Given the description of an element on the screen output the (x, y) to click on. 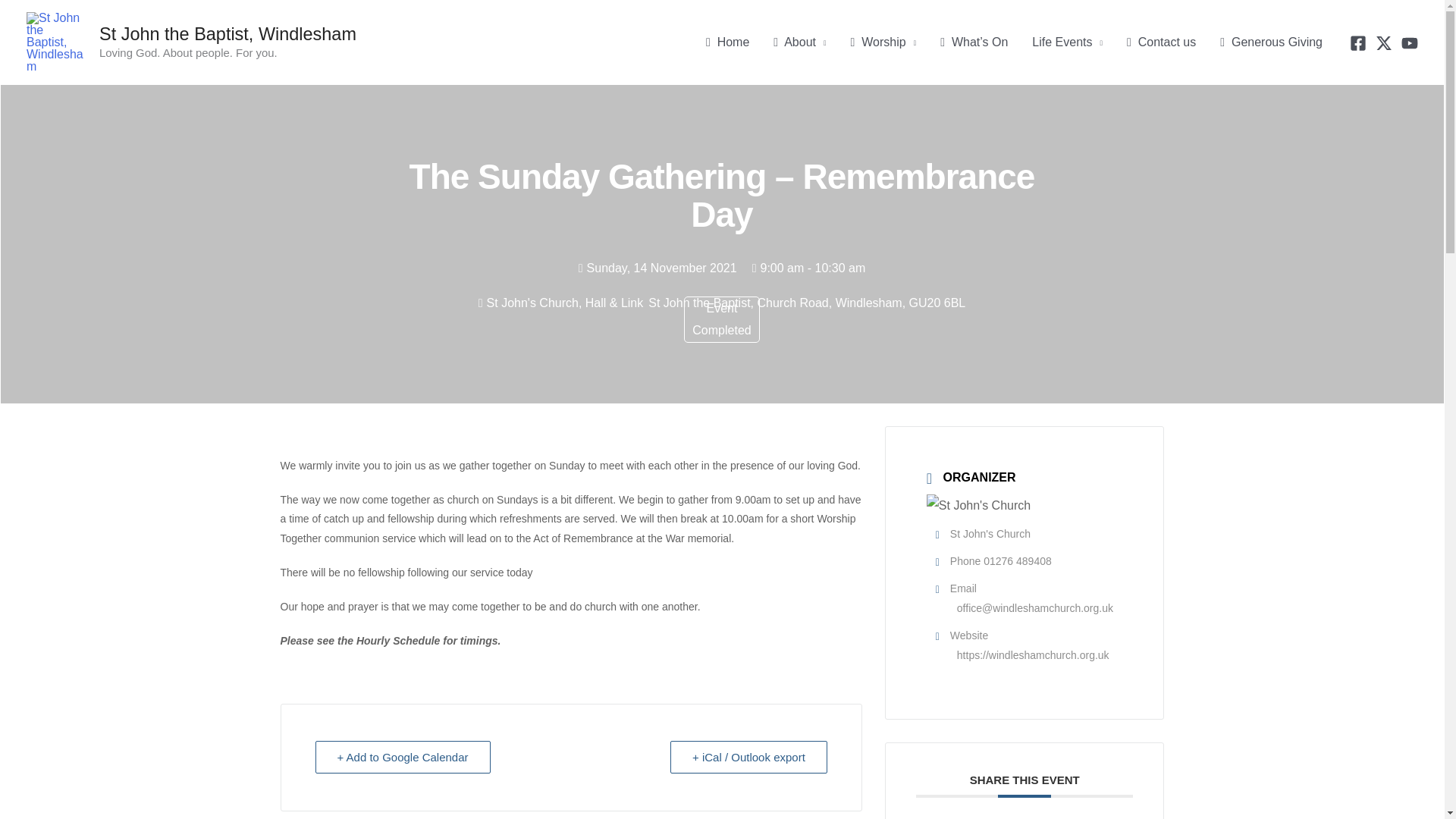
Life Events (1067, 42)
  Worship (883, 42)
St John the Baptist, Windlesham (227, 34)
  Generous Giving (1271, 42)
  About (799, 42)
  Home (727, 42)
  Contact us (1161, 42)
